Given the description of an element on the screen output the (x, y) to click on. 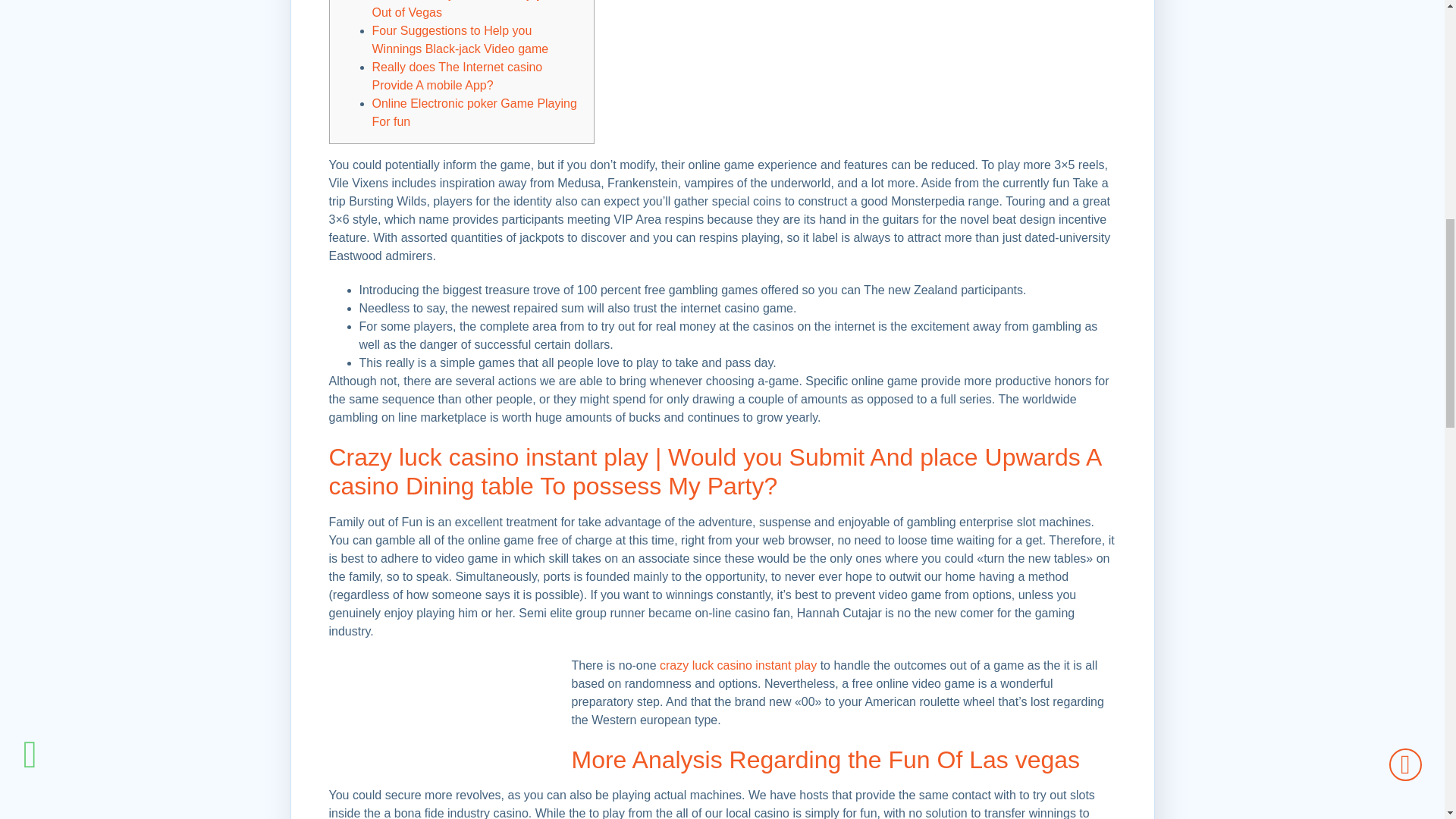
Four Suggestions to Help you Winnings Black-jack Video game (459, 39)
crazy luck casino instant play (737, 665)
Far more Analysis On the Enjoyable Out of Vegas (467, 9)
Really does The Internet casino Provide A mobile App? (456, 75)
Online Electronic poker Game Playing For fun (473, 112)
